Given the description of an element on the screen output the (x, y) to click on. 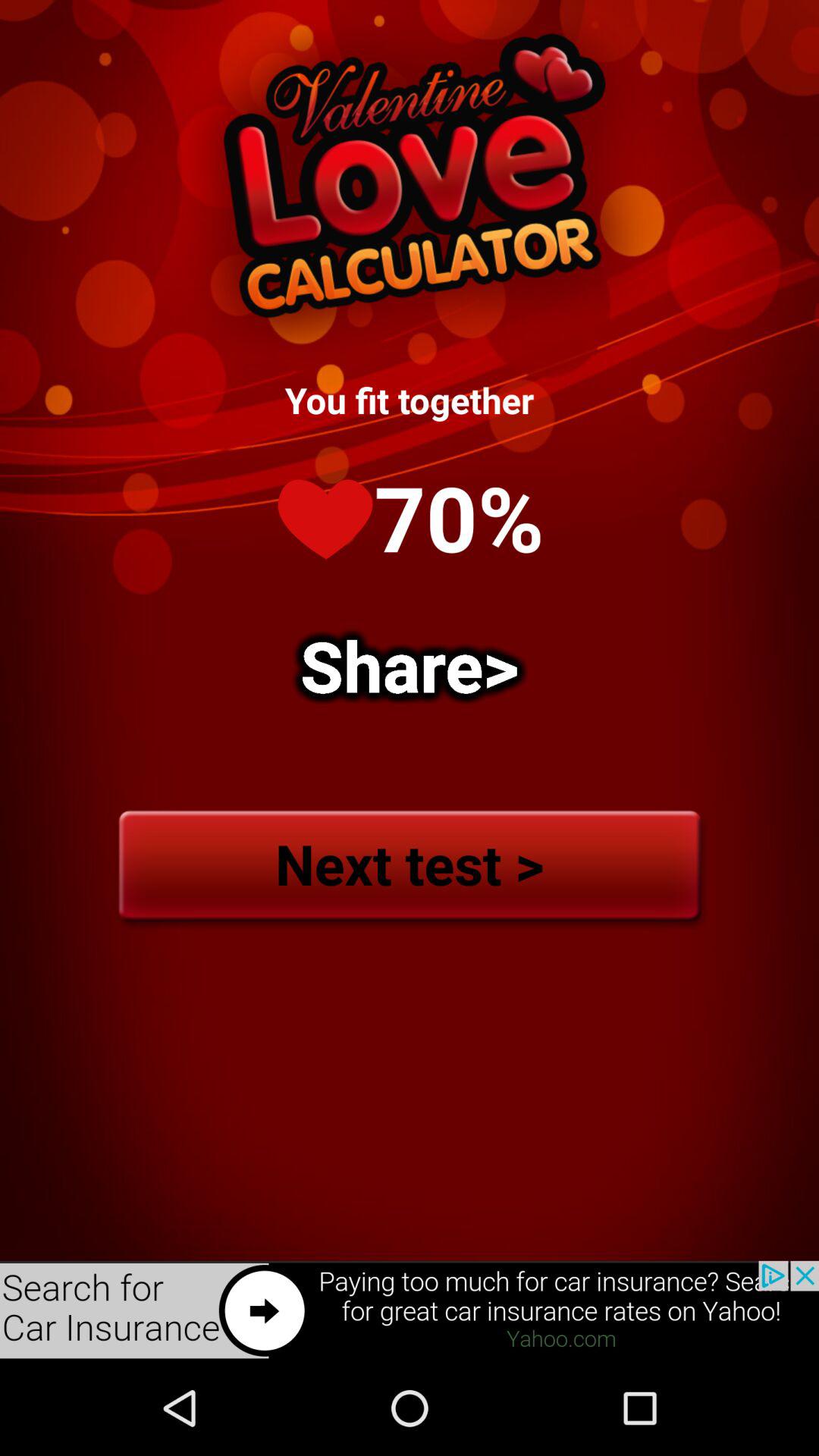
open the advertisement (409, 1310)
